Given the description of an element on the screen output the (x, y) to click on. 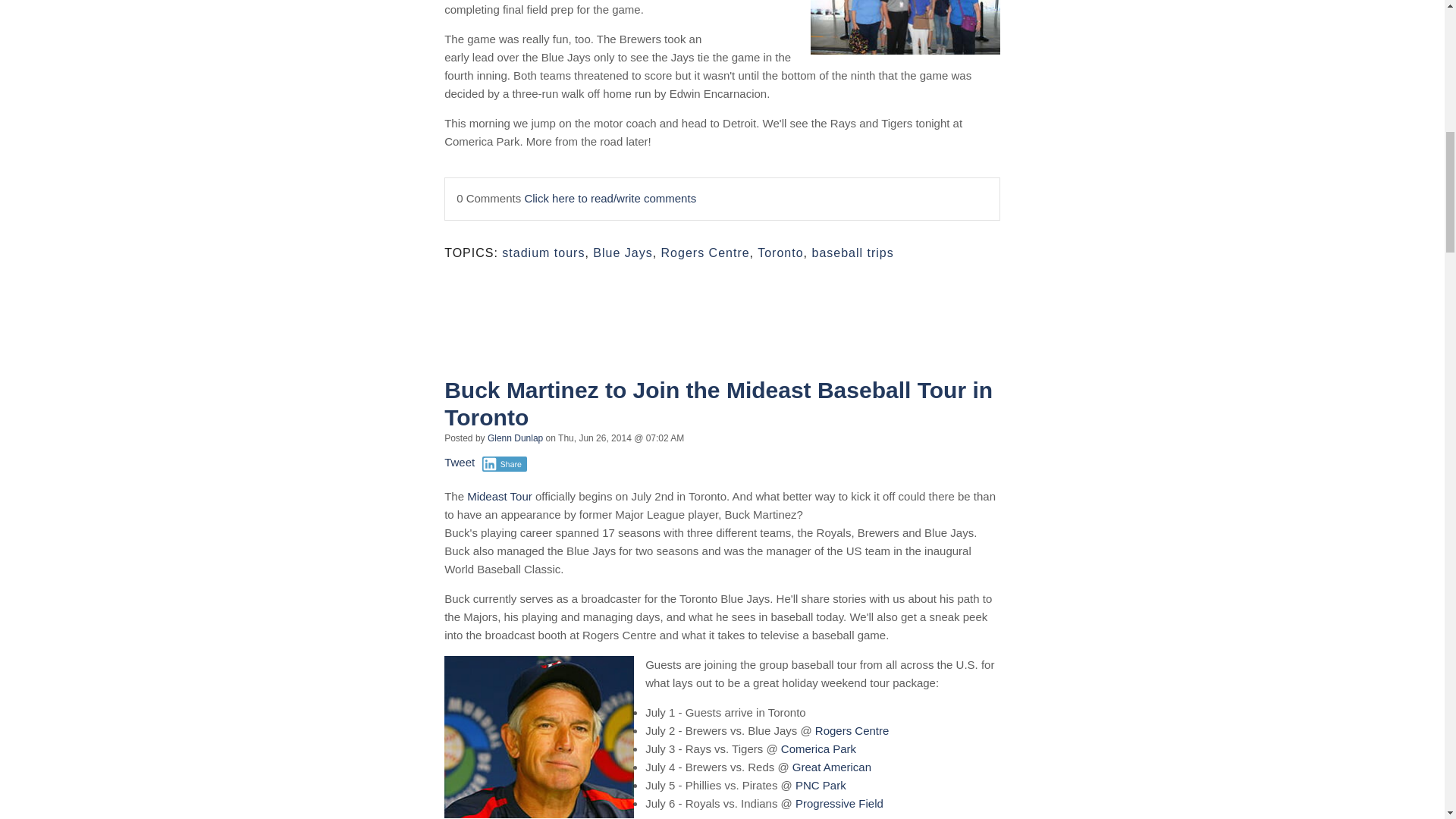
baseball trips (851, 252)
Share (504, 463)
Great American (831, 766)
Mideast Tour (499, 495)
Progressive Field (838, 802)
Rogers Centre (852, 730)
Toronto (780, 252)
Rogers Centre (705, 252)
Rogers Centre (852, 730)
Tweet (459, 461)
